Given the description of an element on the screen output the (x, y) to click on. 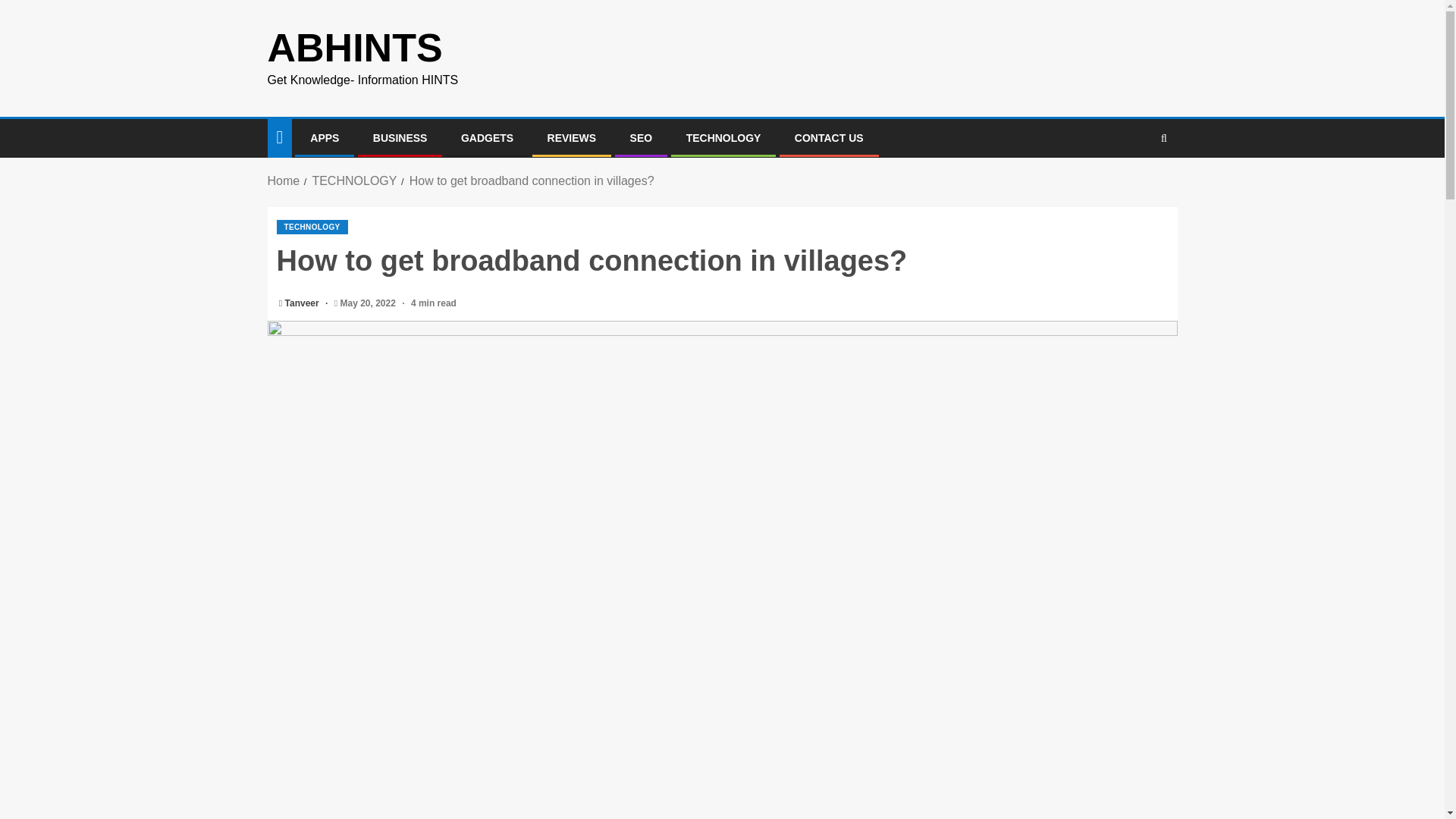
Home (282, 180)
SEO (641, 137)
BUSINESS (400, 137)
Search (1133, 184)
REVIEWS (571, 137)
GADGETS (487, 137)
TECHNOLOGY (311, 227)
TECHNOLOGY (723, 137)
APPS (324, 137)
ABHINTS (354, 47)
Search (1163, 138)
CONTACT US (828, 137)
Tanveer (303, 303)
TECHNOLOGY (353, 180)
How to get broadband connection in villages? (531, 180)
